Given the description of an element on the screen output the (x, y) to click on. 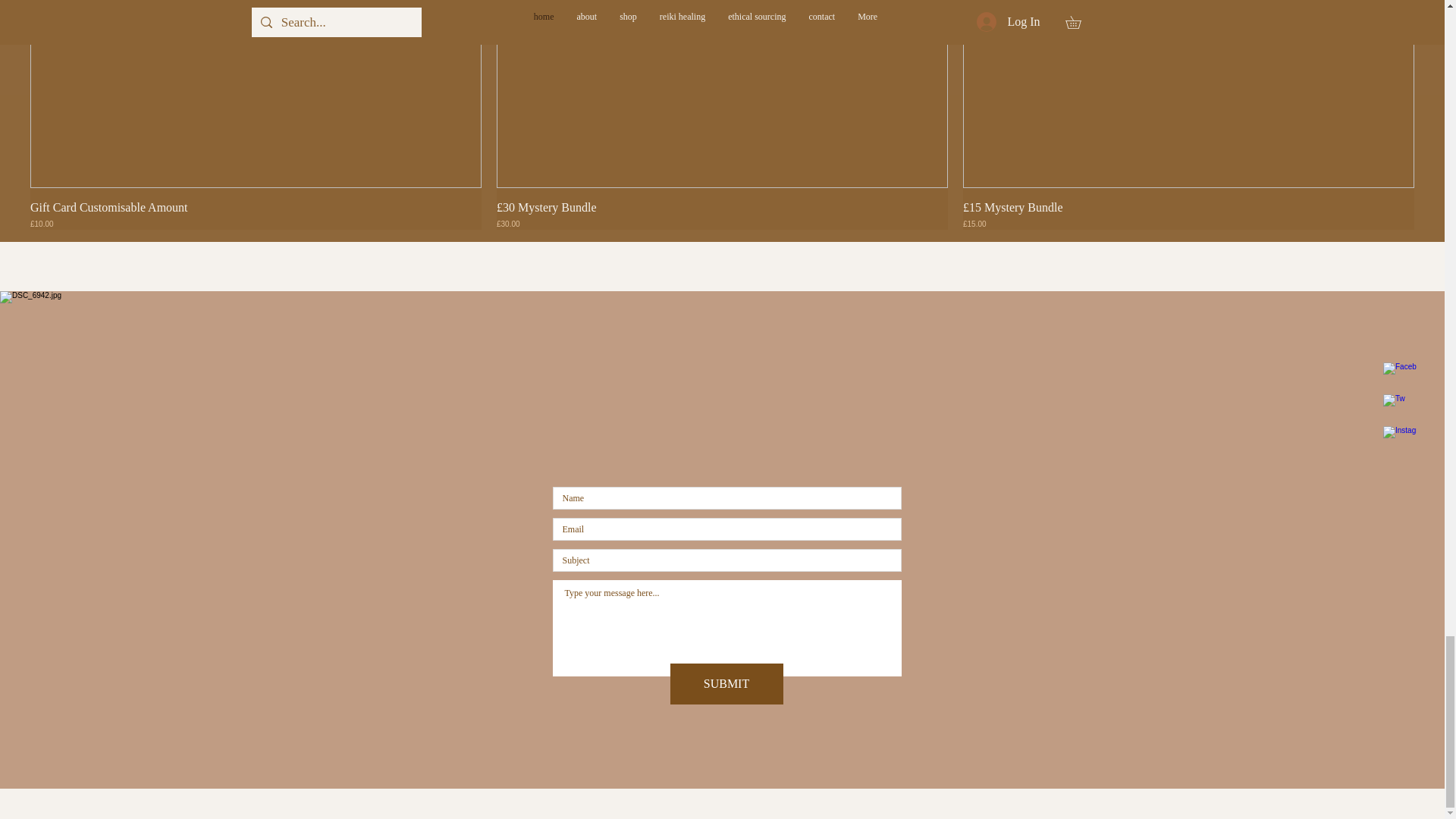
Best Seller (721, 94)
